Given the description of an element on the screen output the (x, y) to click on. 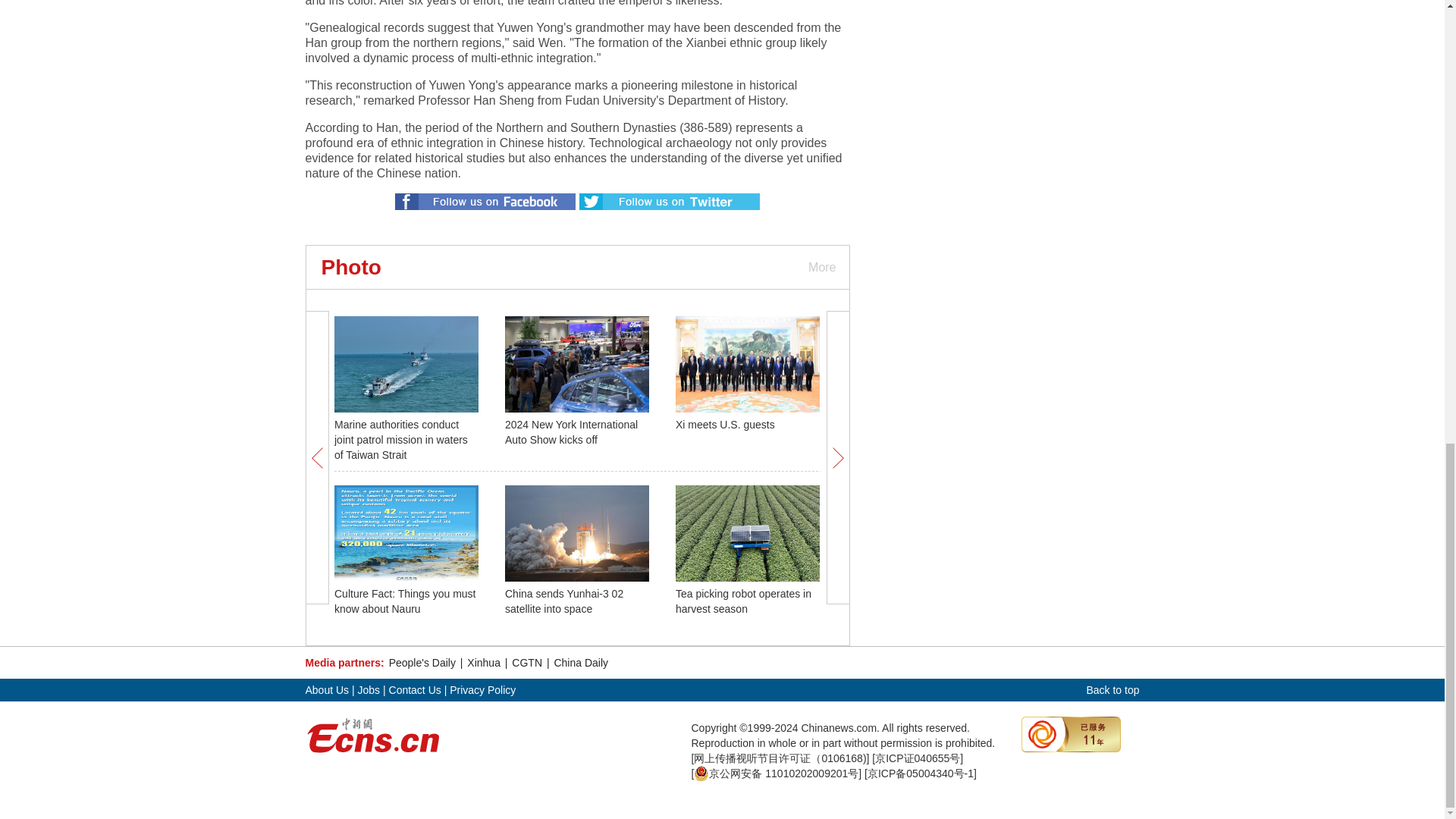
China sends Yunhai-3 02 satellite into space (564, 601)
Tea picking robot operates in harvest season (742, 601)
Xi meets U.S. guests (724, 424)
2024 New York International Auto Show kicks off (571, 431)
Culture Fact: Things you must know about Nauru (405, 601)
